Given the description of an element on the screen output the (x, y) to click on. 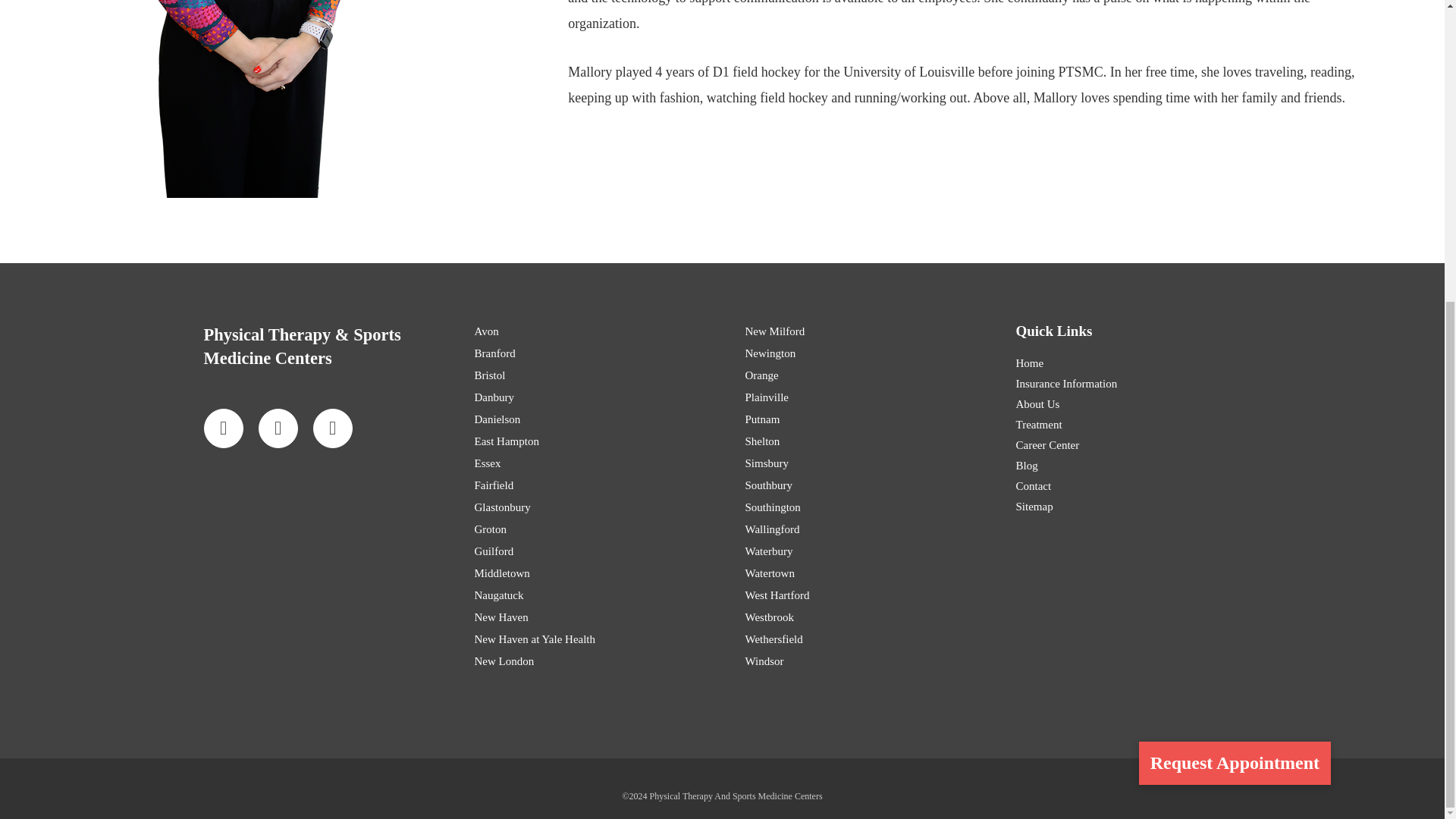
Mallory Mason for web (240, 99)
